Given the description of an element on the screen output the (x, y) to click on. 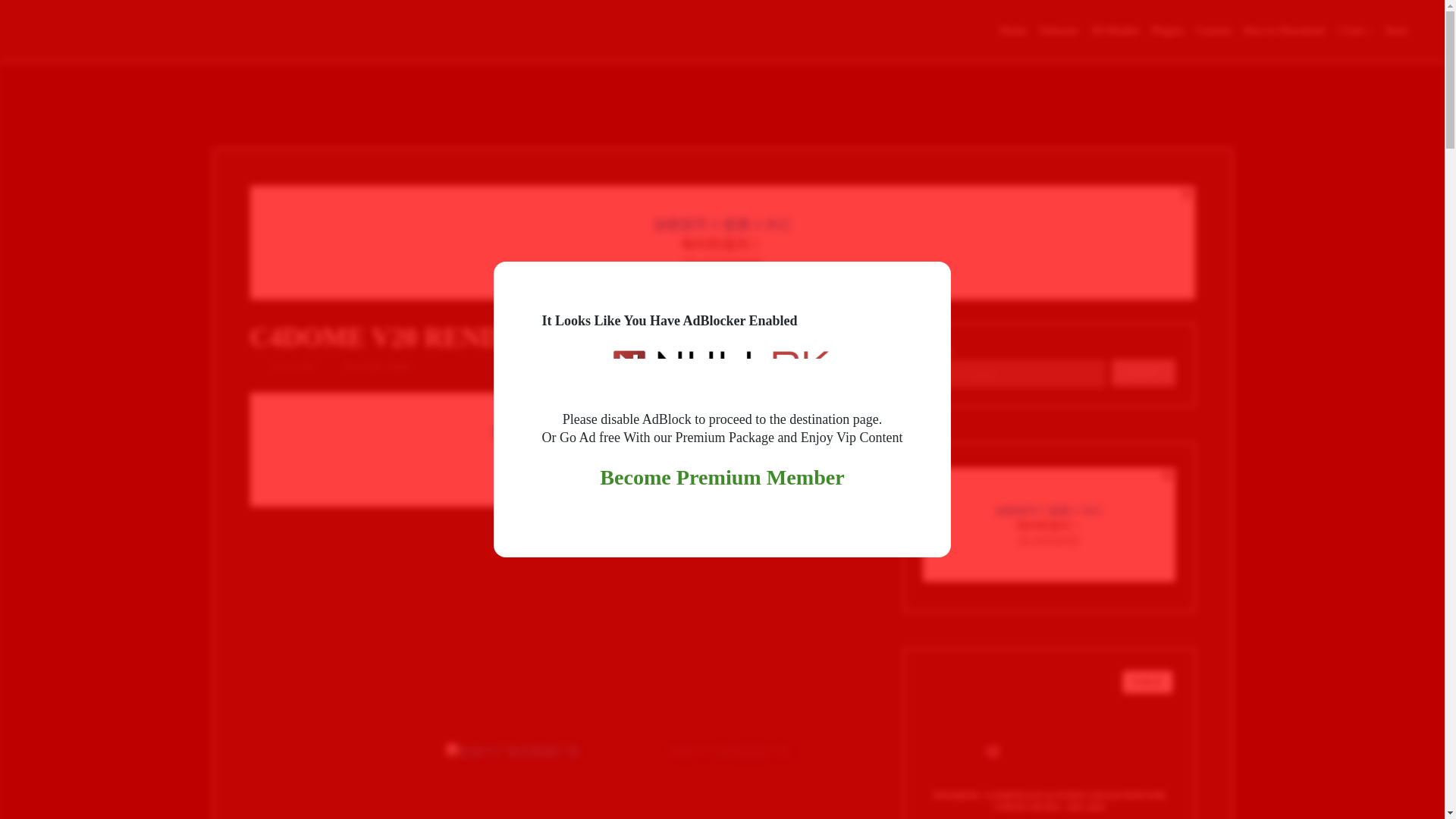
Plugins (400, 366)
Downloads (361, 366)
How to Download (1283, 30)
Store (1396, 30)
3D Models (1114, 30)
Jan 16, 2018 (292, 366)
Home (1013, 30)
Courses (1213, 30)
Software (1058, 30)
Plugins (1167, 30)
